Given the description of an element on the screen output the (x, y) to click on. 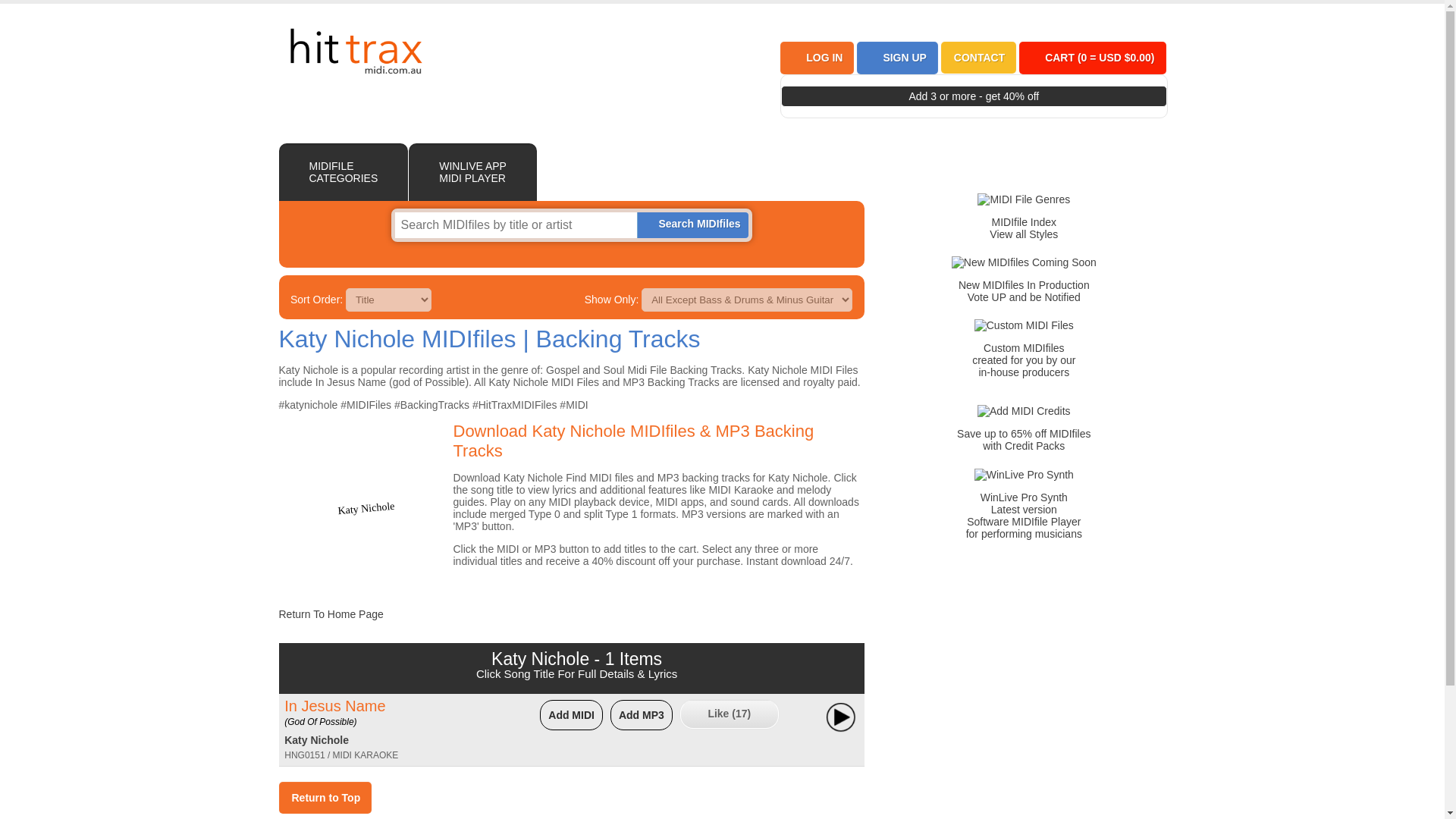
Katy Nichole MIDI Files (365, 502)
Sign Up (903, 57)
Return to Top (325, 797)
Katy Nichole MIDI backing Track (316, 739)
Katy Nichole - 1 Items (577, 659)
MIDI File Genres (1024, 228)
Search MIDIfiles (698, 223)
MIDI Files Backing Tracks (354, 51)
CONTACT (978, 57)
